Given the description of an element on the screen output the (x, y) to click on. 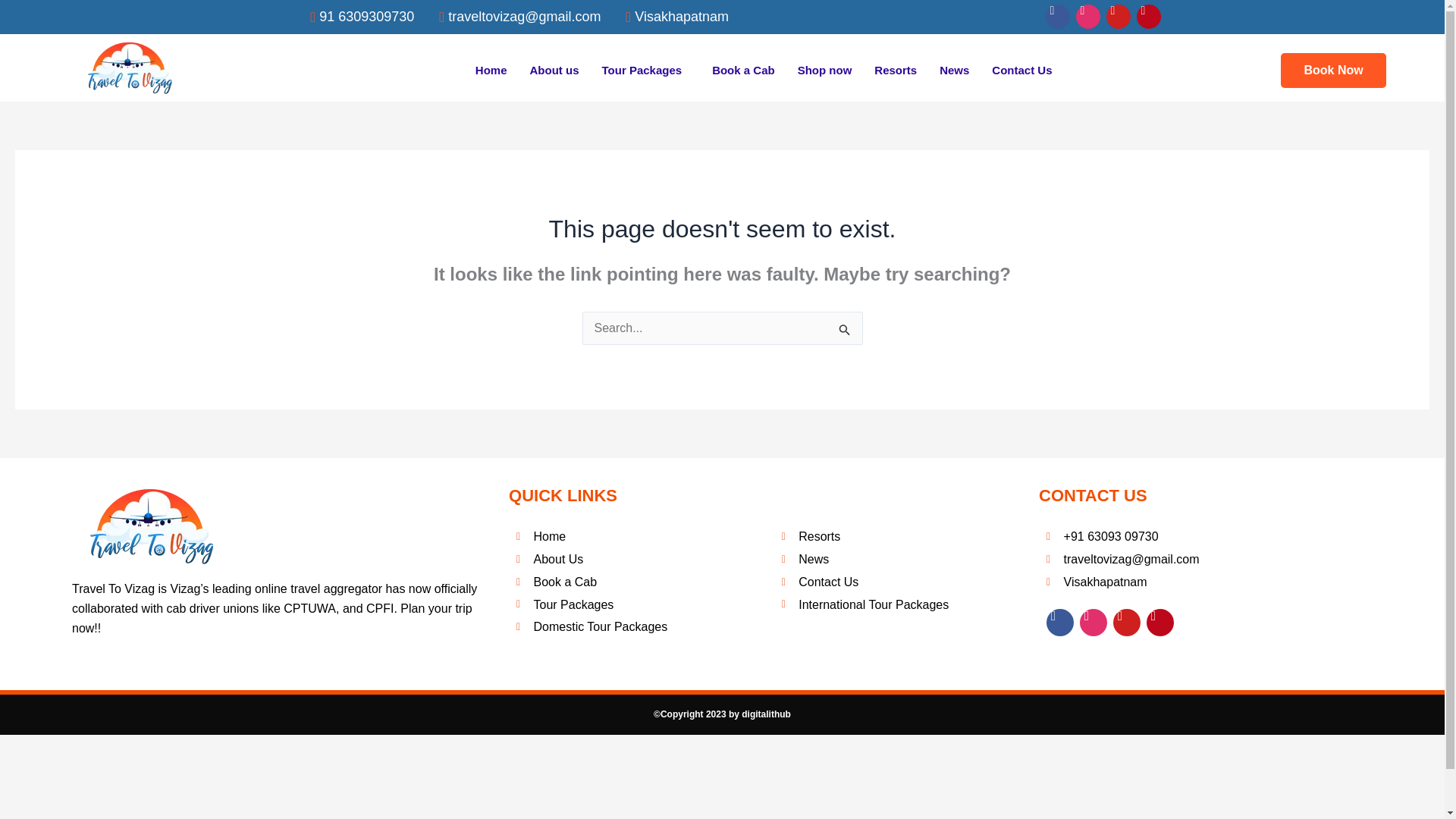
Tour Packages (641, 603)
Shop now (824, 69)
Youtube (1118, 16)
Home (491, 69)
Instagram (1087, 16)
About us (554, 69)
Book Now (1333, 70)
91 6309309730 (355, 16)
News (902, 558)
Contact Us (902, 581)
